Given the description of an element on the screen output the (x, y) to click on. 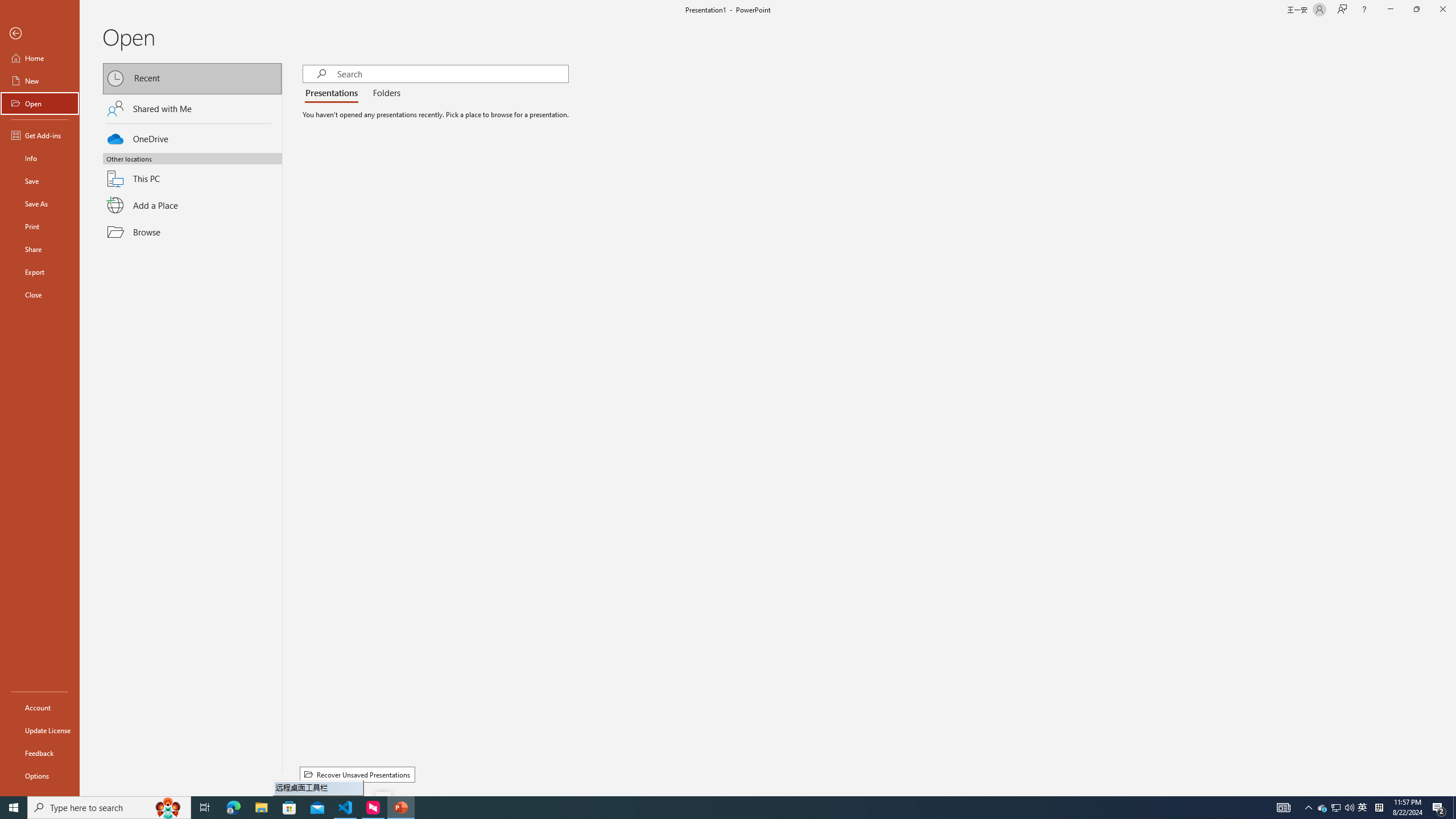
Shared with Me (192, 108)
New (40, 80)
Options (40, 775)
